Given the description of an element on the screen output the (x, y) to click on. 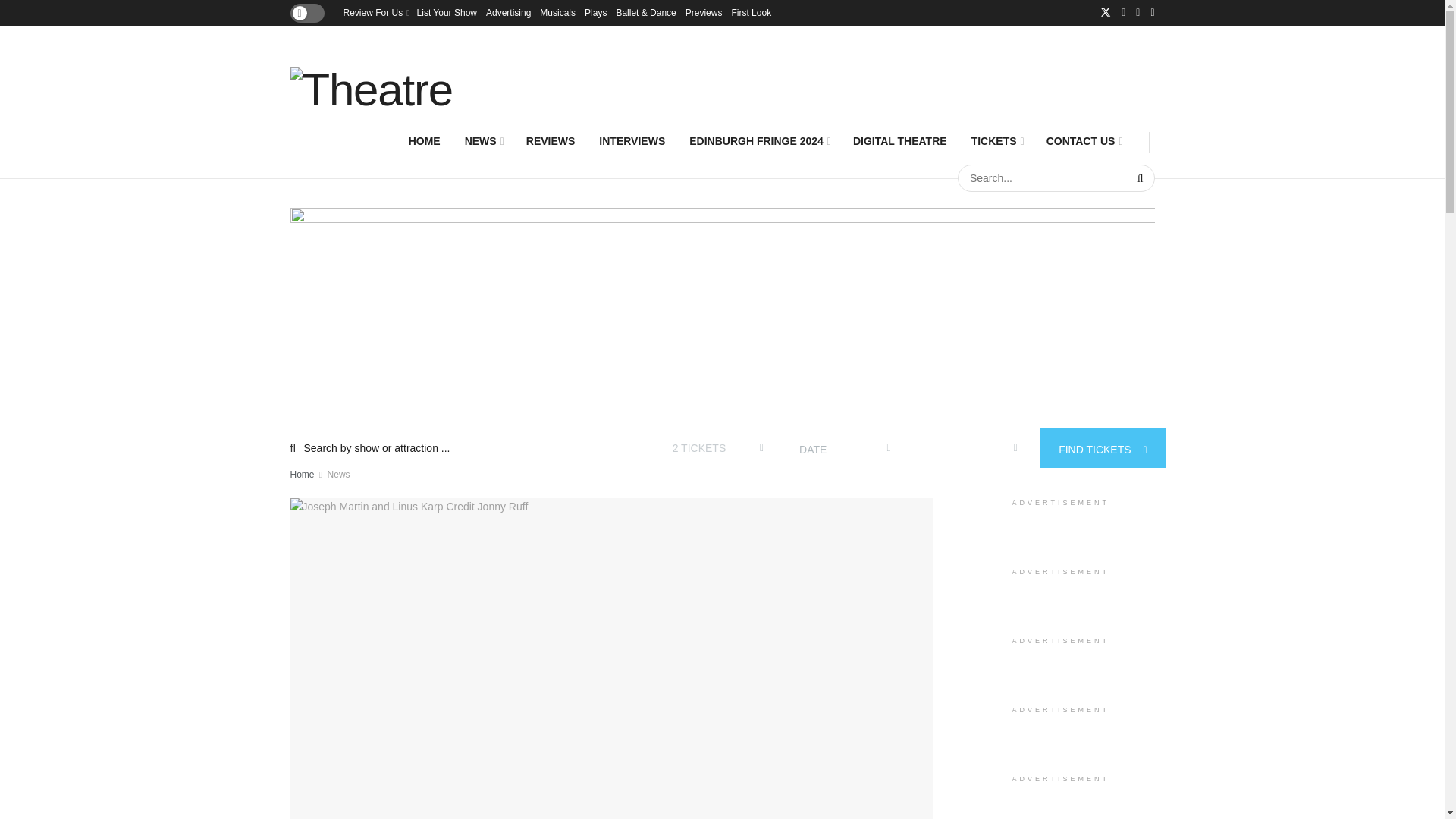
CONTACT US (1082, 140)
List Your Show (446, 12)
TICKETS (996, 140)
Advertising (508, 12)
INTERVIEWS (631, 140)
EDINBURGH FRINGE 2024 (759, 140)
HOME (424, 140)
First Look (750, 12)
REVIEWS (550, 140)
Musicals (557, 12)
NEWS (482, 140)
Previews (703, 12)
Review For Us (374, 12)
DIGITAL THEATRE (900, 140)
